Given the description of an element on the screen output the (x, y) to click on. 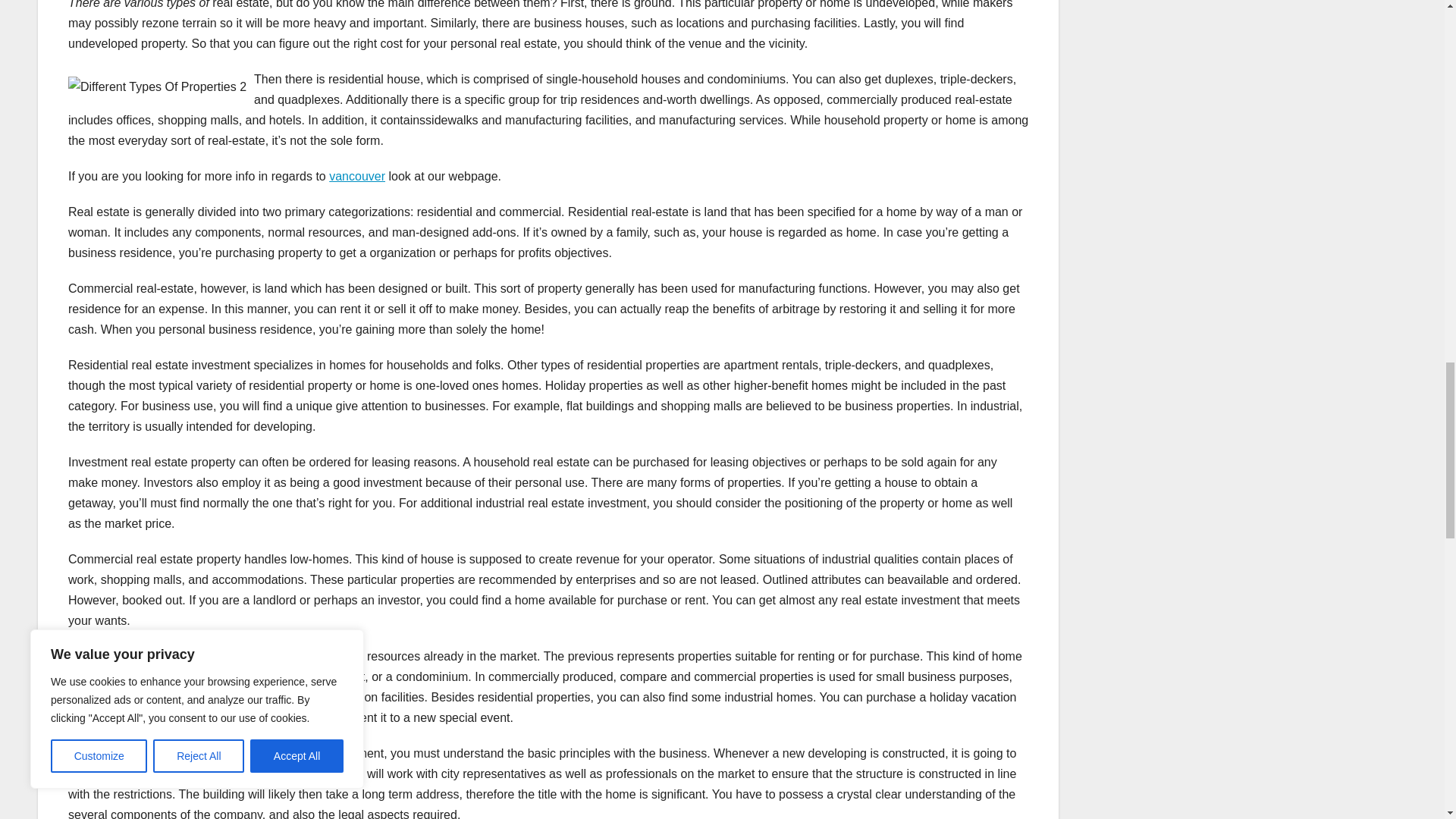
vancouver (357, 175)
household (95, 717)
